Given the description of an element on the screen output the (x, y) to click on. 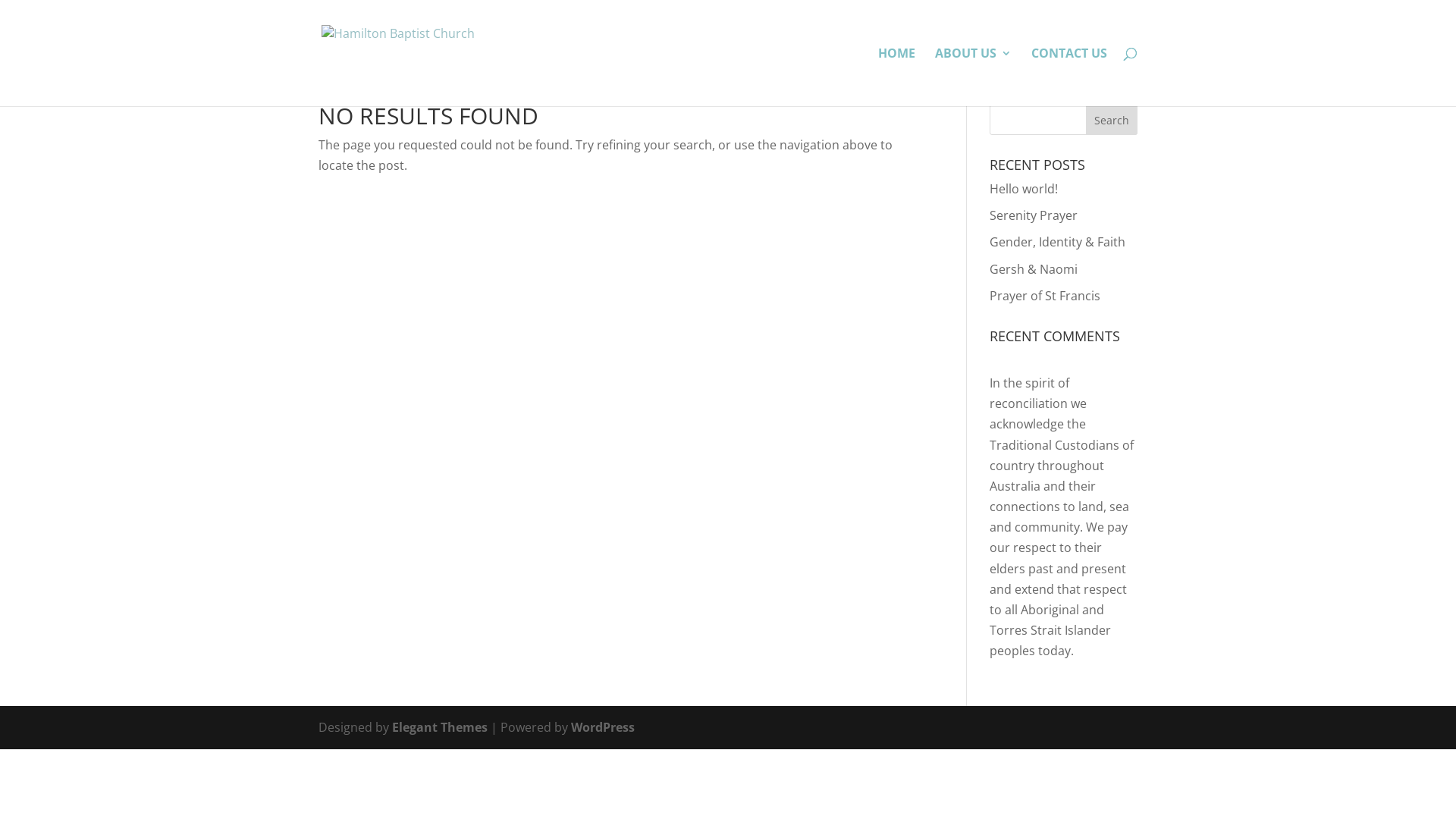
Elegant Themes Element type: text (439, 726)
Serenity Prayer Element type: text (1033, 215)
HOME Element type: text (896, 76)
Gender, Identity & Faith Element type: text (1057, 241)
WordPress Element type: text (602, 726)
Prayer of St Francis Element type: text (1044, 295)
Gersh & Naomi Element type: text (1033, 268)
Search Element type: text (1111, 119)
Hello world! Element type: text (1023, 188)
CONTACT US Element type: text (1069, 76)
ABOUT US Element type: text (973, 76)
